Given the description of an element on the screen output the (x, y) to click on. 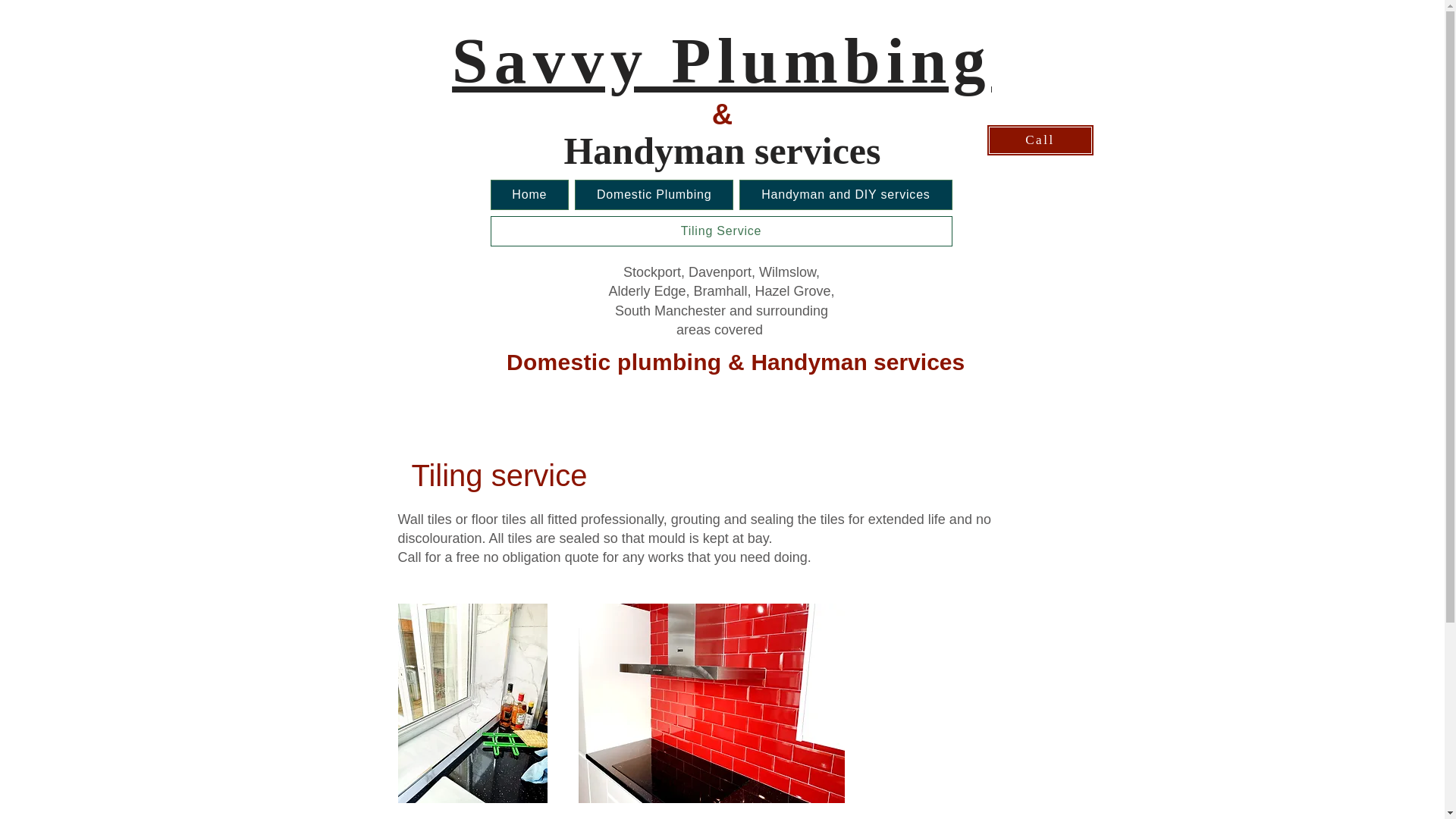
Handyman and DIY services (845, 194)
Call (1039, 140)
Home (529, 194)
Domestic Plumbing (654, 194)
Tiling Service (720, 231)
